Given the description of an element on the screen output the (x, y) to click on. 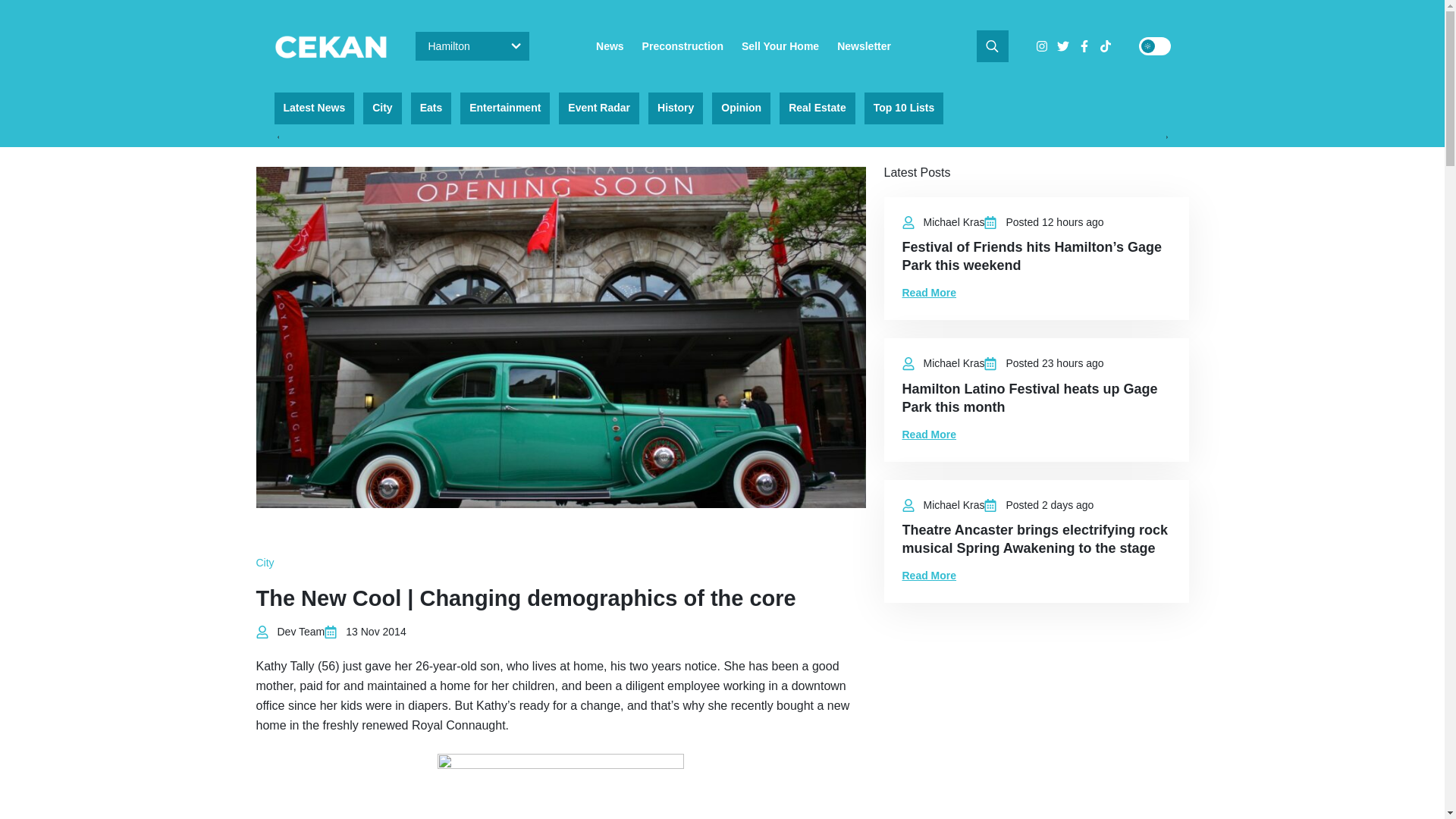
Sell Your Home (779, 46)
Entertainment (505, 107)
Dev Team (301, 631)
Real Estate (816, 107)
Preconstruction (682, 46)
Event Radar (599, 107)
History (675, 107)
Read More (929, 292)
Top 10 Lists (903, 107)
News (609, 46)
Michael Kras (954, 222)
Latest News (315, 107)
Opinion (740, 107)
Newsletter (864, 46)
City (265, 562)
